Given the description of an element on the screen output the (x, y) to click on. 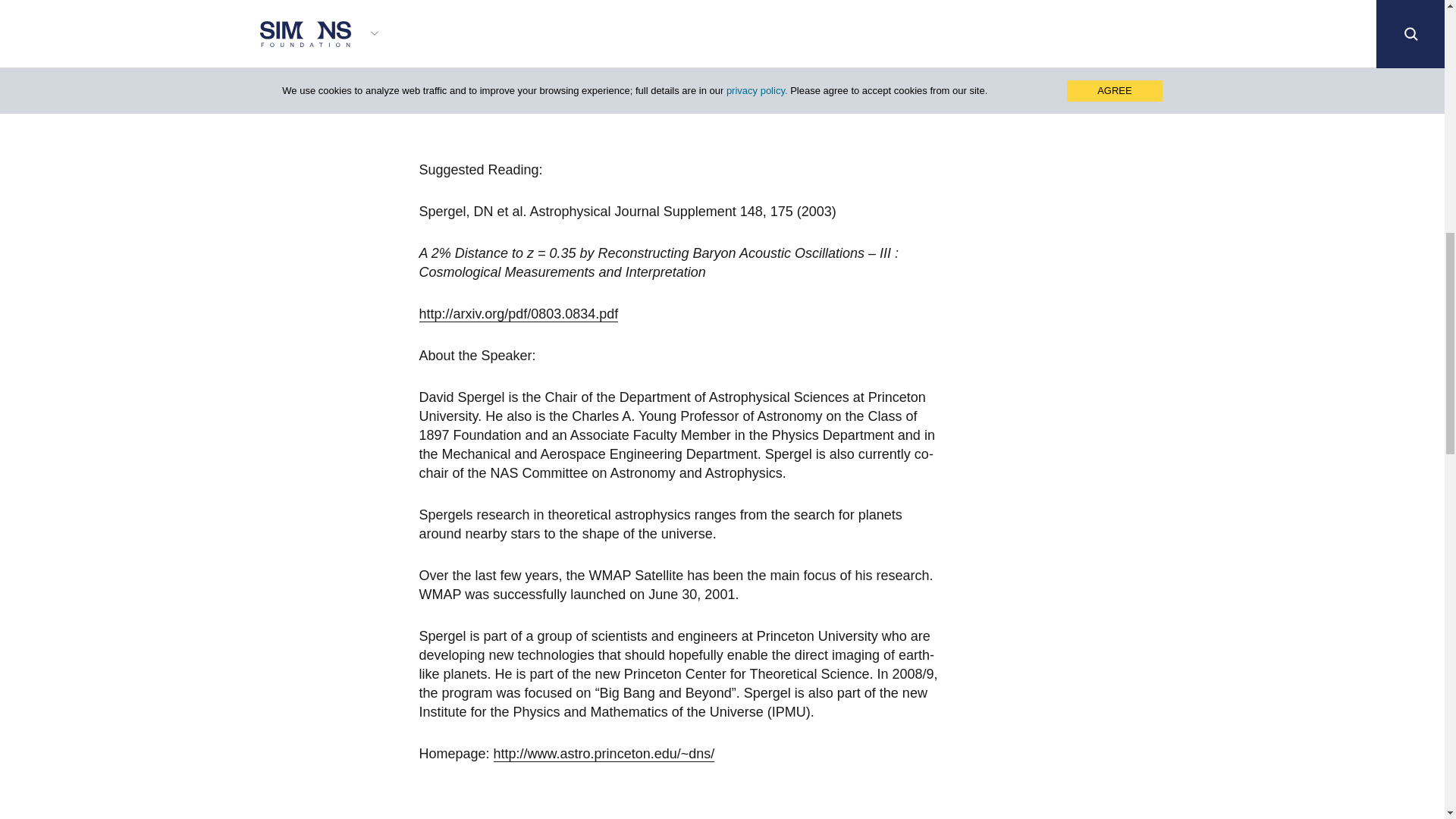
Simons Science Series - David Spergel (608, 66)
